Given the description of an element on the screen output the (x, y) to click on. 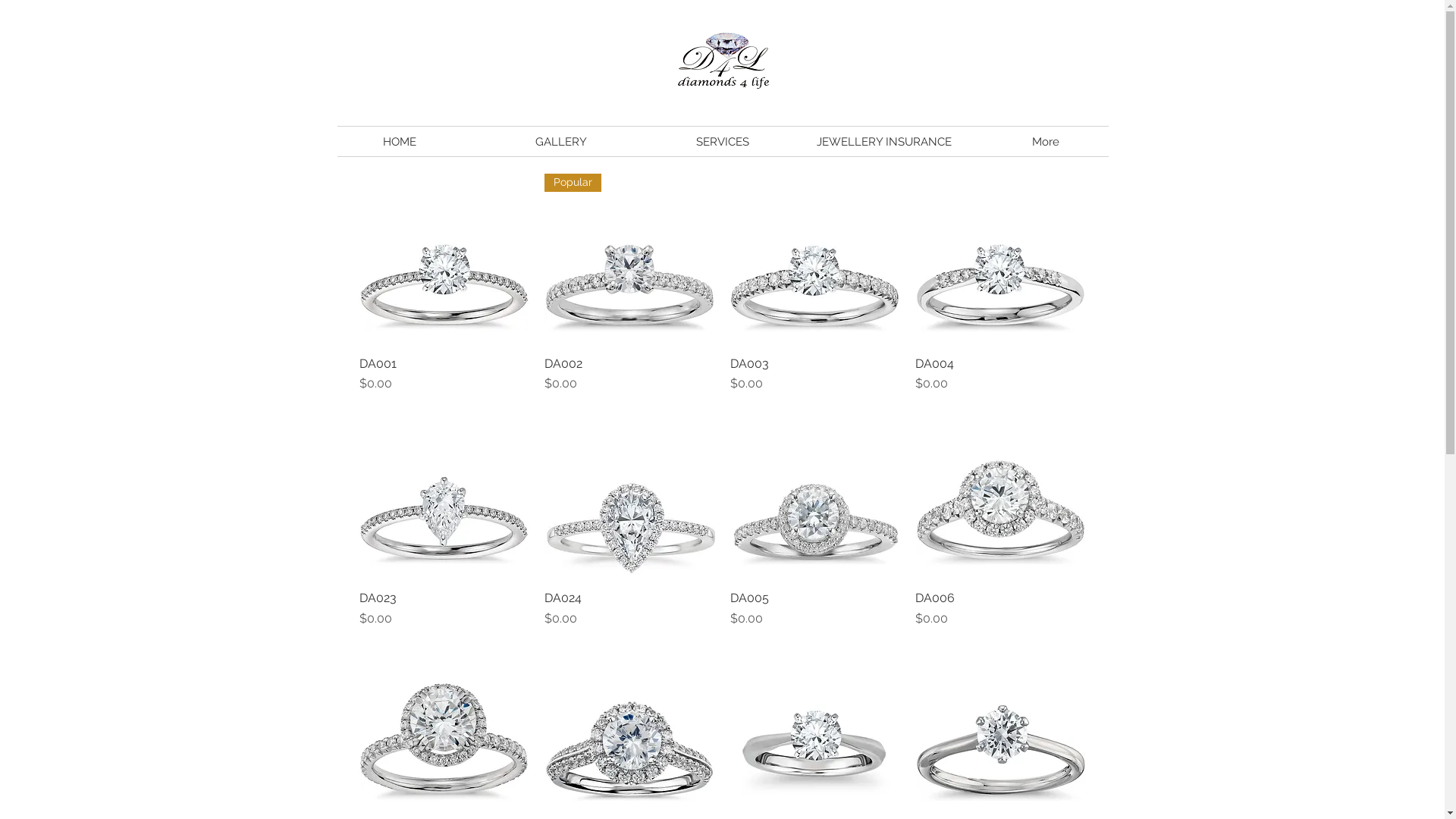
JEWELLERY INSURANCE Element type: text (884, 141)
DA023
Price
$0.00 Element type: text (444, 608)
GALLERY Element type: text (561, 141)
HOME Element type: text (399, 141)
DA005
Price
$0.00 Element type: text (814, 608)
DA003
Price
$0.00 Element type: text (814, 374)
DA006
Price
$0.00 Element type: text (1000, 608)
DA024
Price
$0.00 Element type: text (629, 608)
DA002
Price
$0.00 Element type: text (629, 374)
DA004
Price
$0.00 Element type: text (1000, 374)
SERVICES Element type: text (722, 141)
DA001
Price
$0.00 Element type: text (444, 374)
Popular Element type: text (629, 258)
